Given the description of an element on the screen output the (x, y) to click on. 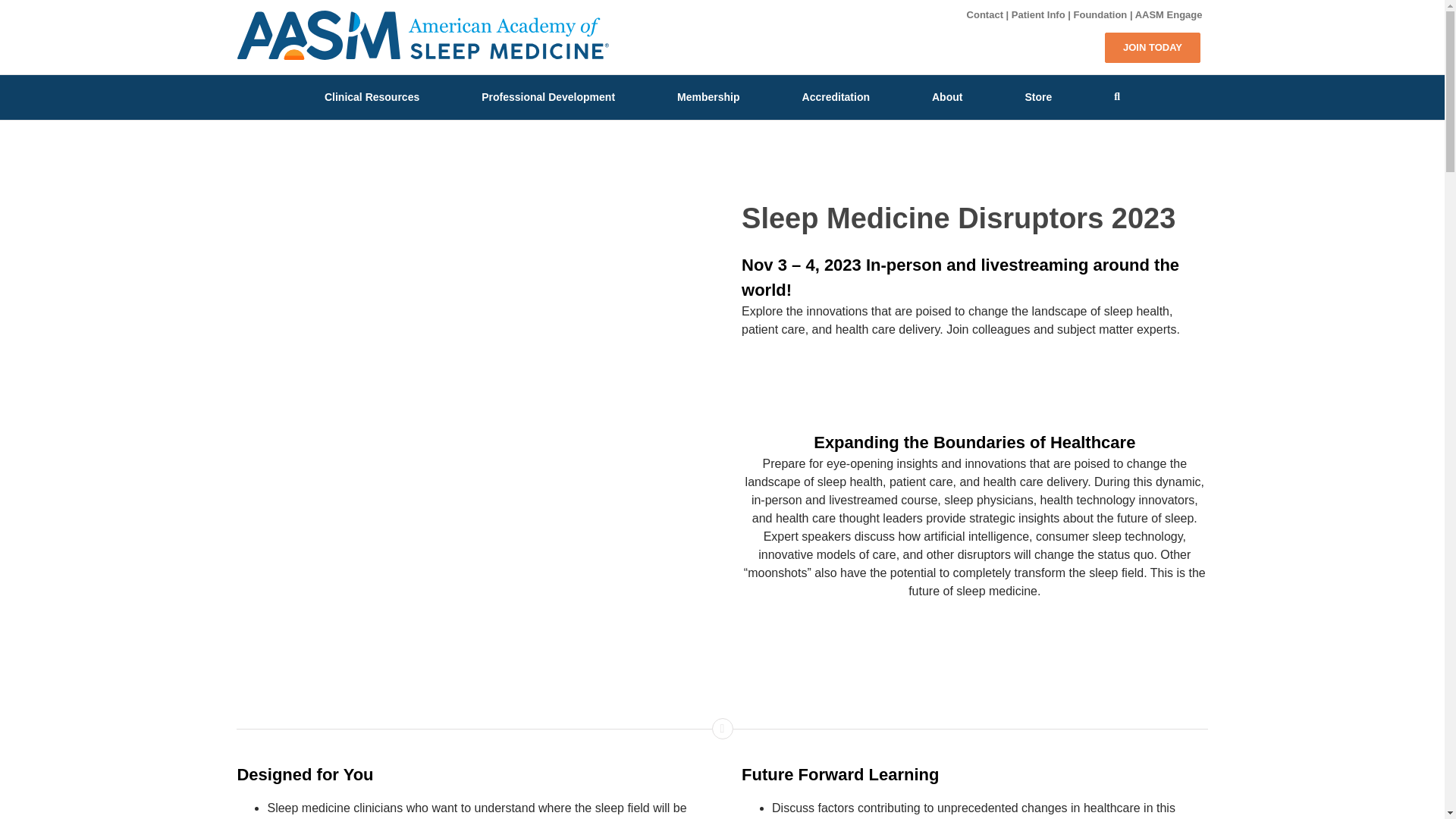
AASM Engage (1168, 14)
Patient Info (1038, 14)
Foundation (1100, 14)
Contact (984, 14)
JOIN TODAY (1152, 46)
YouTube video player 1 (463, 760)
Search (1117, 96)
Clinical Resources (371, 96)
